Given the description of an element on the screen output the (x, y) to click on. 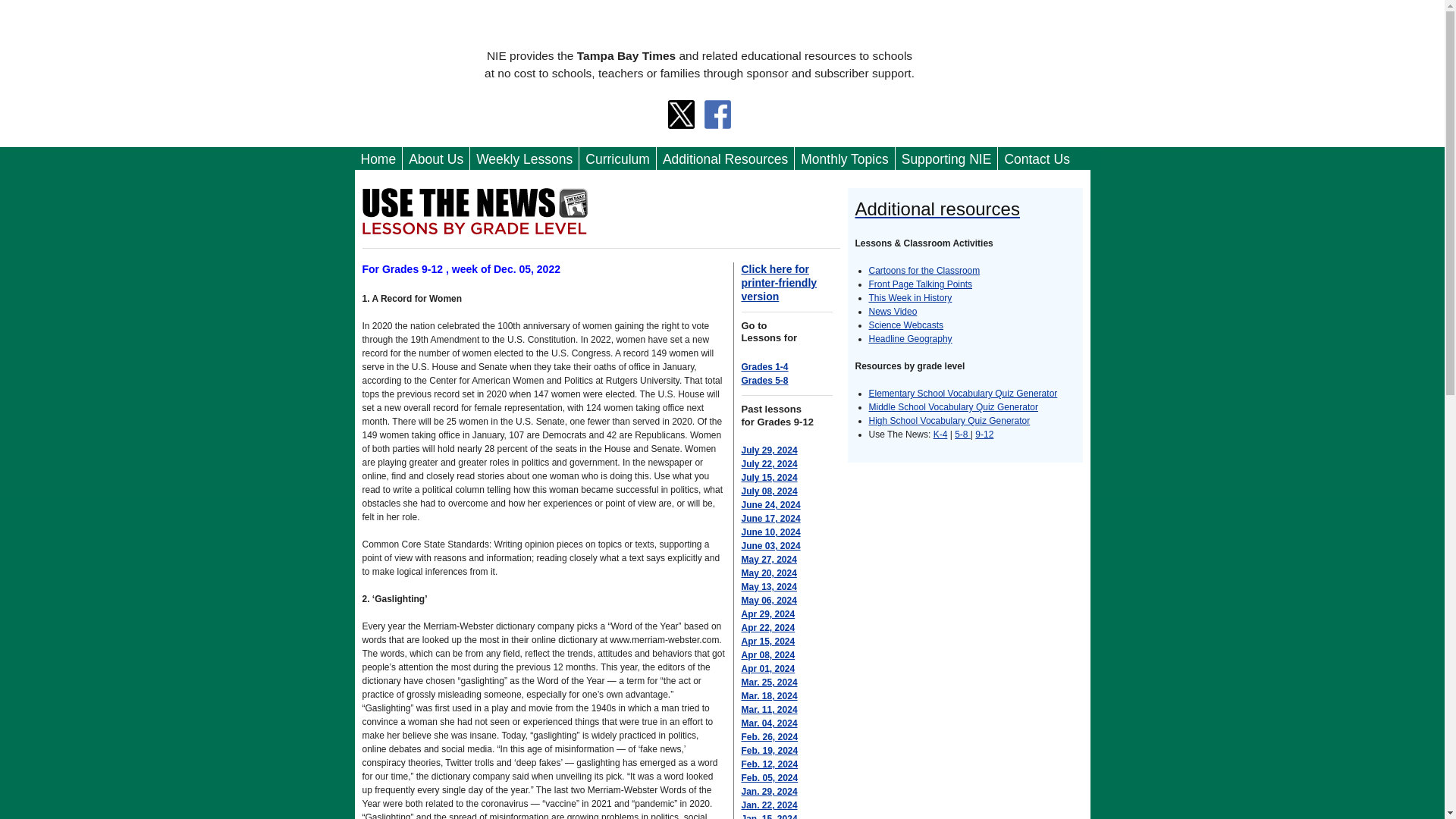
Additional Resources (724, 159)
Home (379, 159)
Monthly Topics (843, 159)
Weekly Lessons (524, 159)
Curriculum (617, 159)
About Us (435, 159)
